Given the description of an element on the screen output the (x, y) to click on. 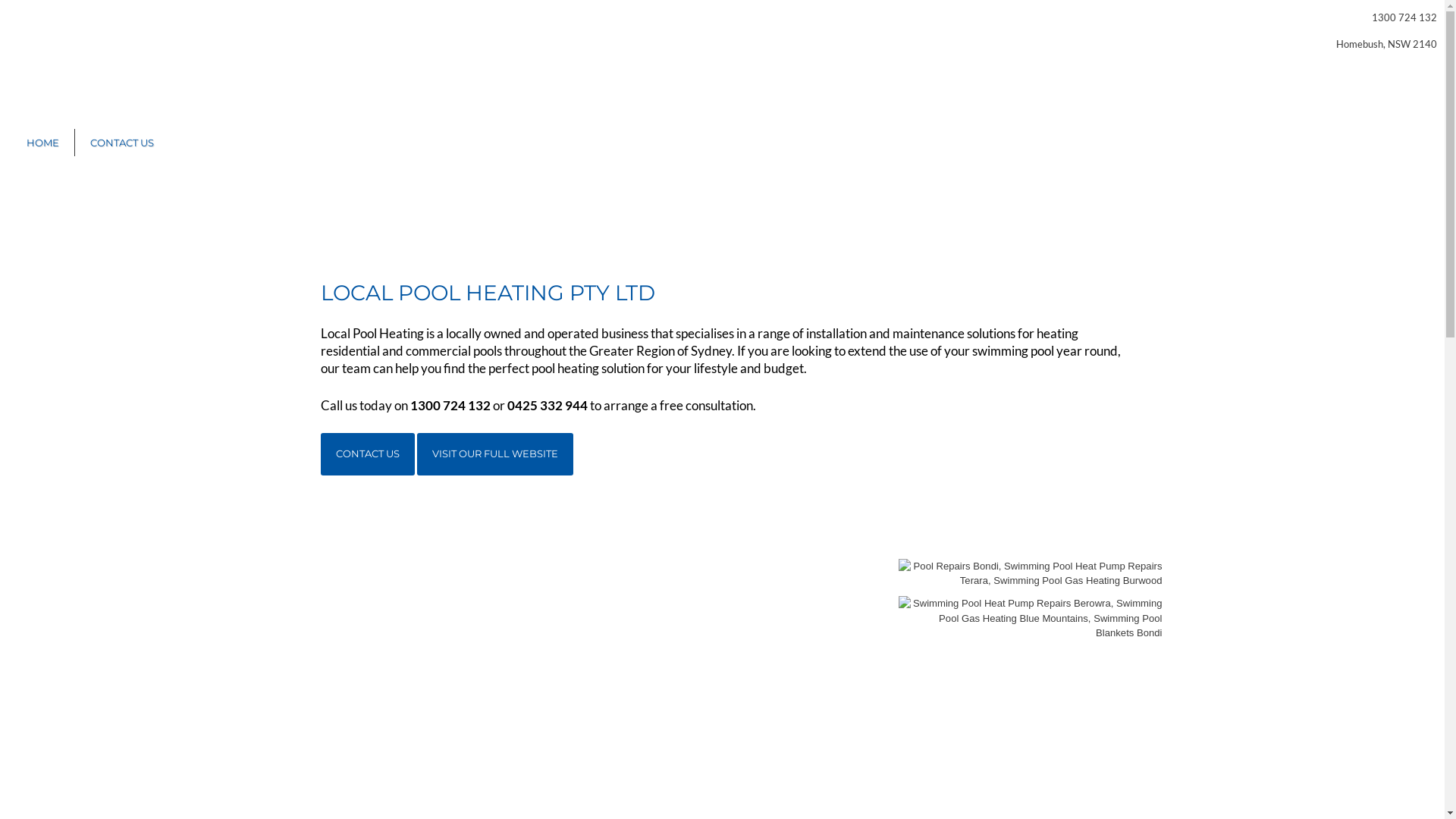
Swimming Pool Heat Pump Repairs Berowra Element type: hover (1029, 618)
HOME Element type: text (42, 142)
1300 724 132 Element type: text (1404, 17)
Pool Repairs Bondi Element type: hover (1029, 572)
CONTACT US Element type: text (122, 142)
CONTACT US Element type: text (367, 454)
VISIT OUR FULL WEBSITE Element type: text (495, 454)
